Given the description of an element on the screen output the (x, y) to click on. 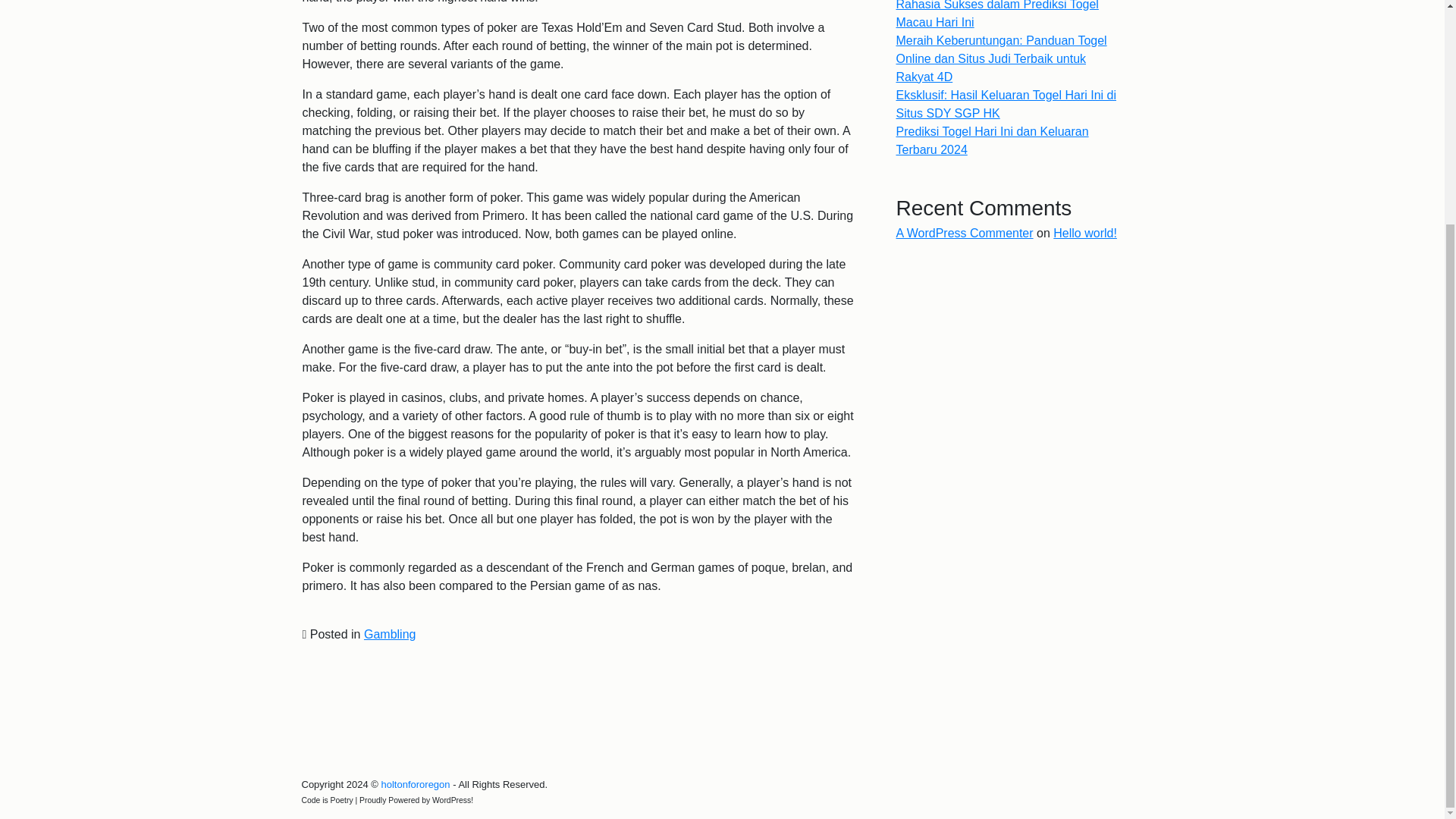
A WordPress Commenter (964, 232)
Eksklusif: Hasil Keluaran Togel Hari Ini di Situs SDY SGP HK (1006, 103)
holtonfororegon (414, 784)
Rahasia Sukses dalam Prediksi Togel Macau Hari Ini (997, 14)
Gambling (389, 634)
Hello world! (1084, 232)
Prediksi Togel Hari Ini dan Keluaran Terbaru 2024 (992, 140)
